Given the description of an element on the screen output the (x, y) to click on. 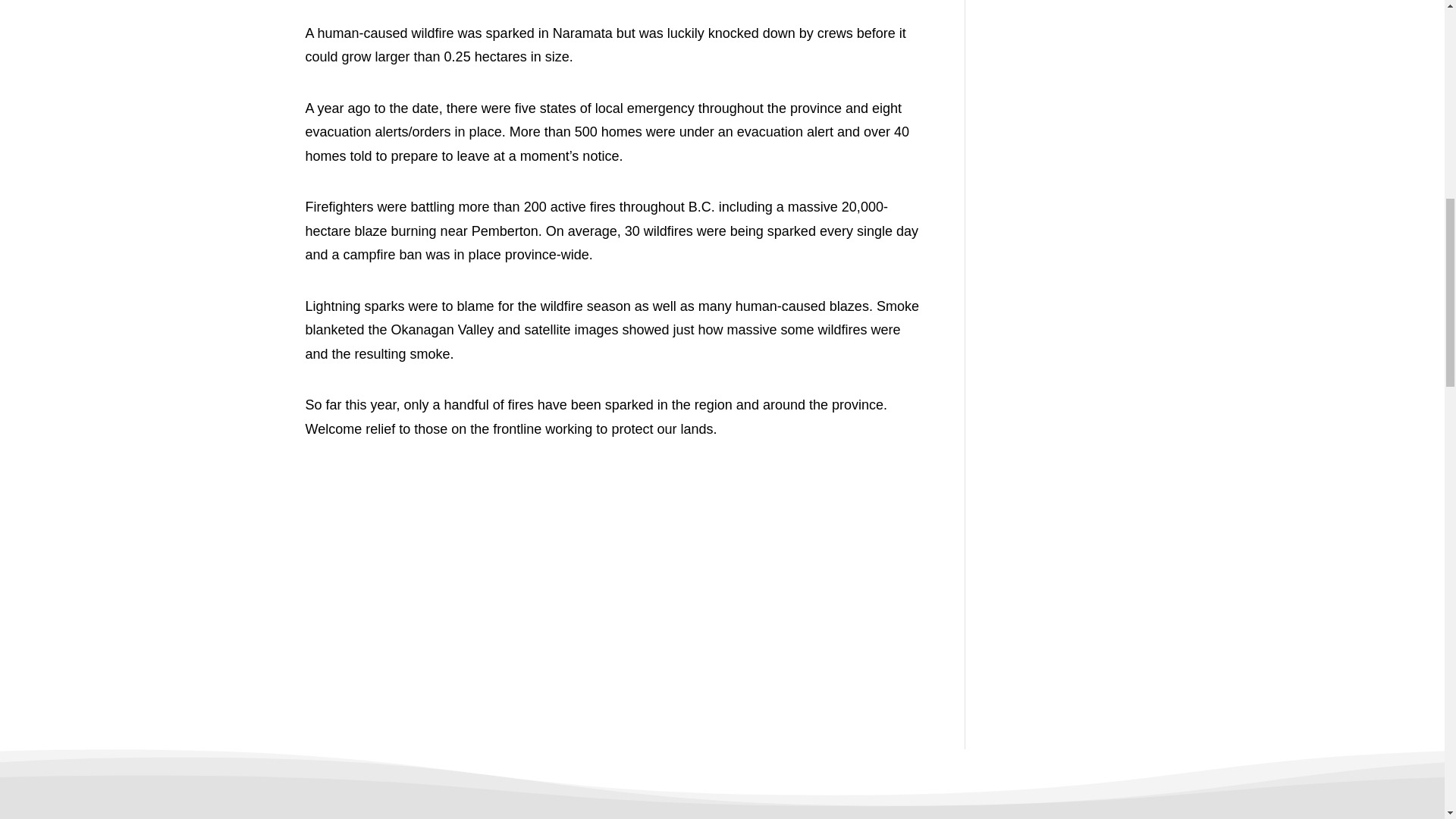
Advertisement (611, 561)
